Given the description of an element on the screen output the (x, y) to click on. 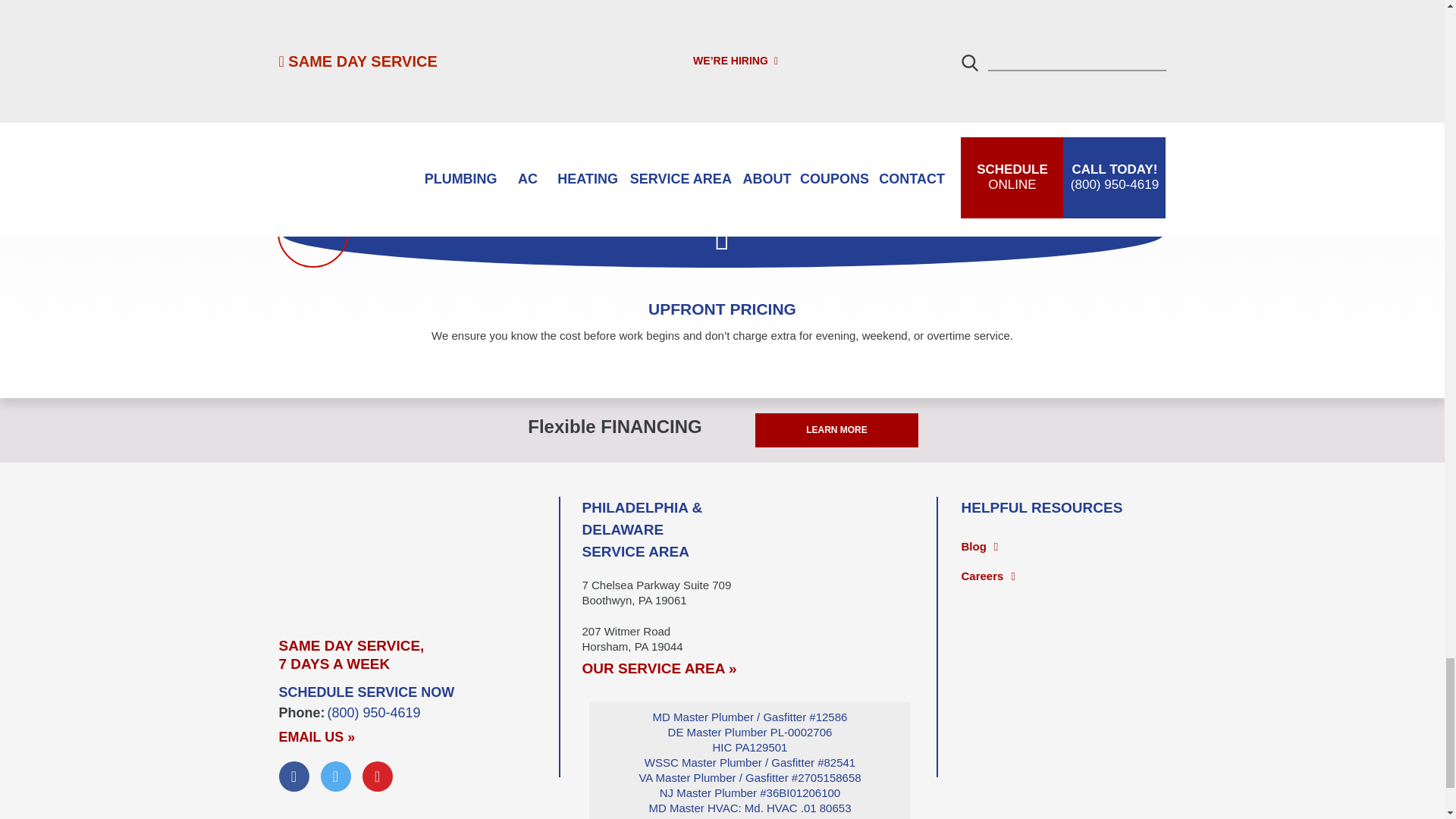
Phone Number (373, 712)
Len The Plumber (419, 553)
Facebook (293, 776)
Twitter (335, 776)
Email us (317, 736)
